Given the description of an element on the screen output the (x, y) to click on. 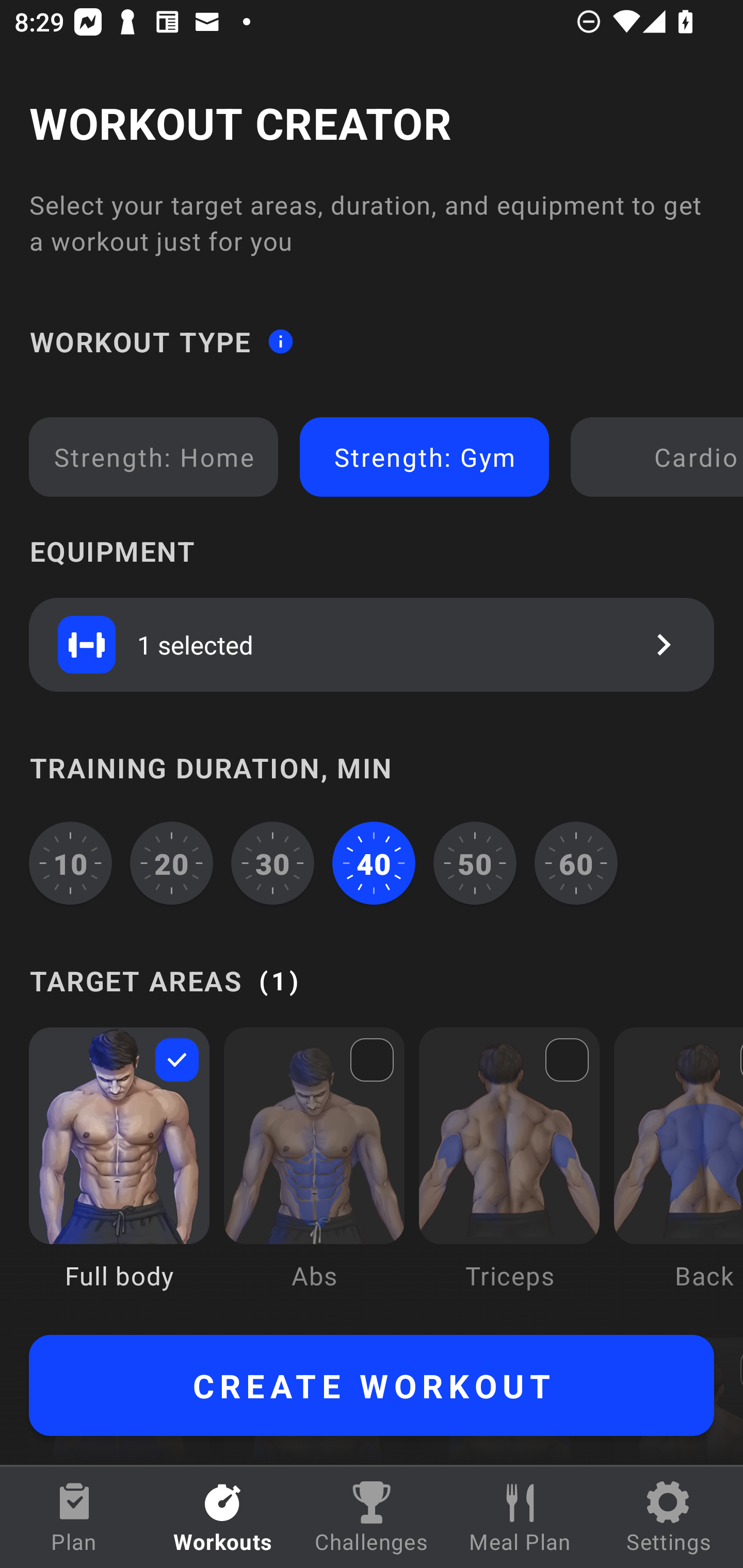
Workout type information button (280, 340)
Strength: Home (153, 457)
Cardio (660, 457)
1 selected (371, 644)
10 (70, 863)
20 (171, 863)
30 (272, 863)
40 (373, 863)
50 (474, 863)
60 (575, 863)
Abs (313, 1172)
Triceps (509, 1172)
Back (678, 1172)
CREATE WORKOUT (371, 1385)
 Plan  (74, 1517)
 Challenges  (371, 1517)
 Meal Plan  (519, 1517)
 Settings  (668, 1517)
